Given the description of an element on the screen output the (x, y) to click on. 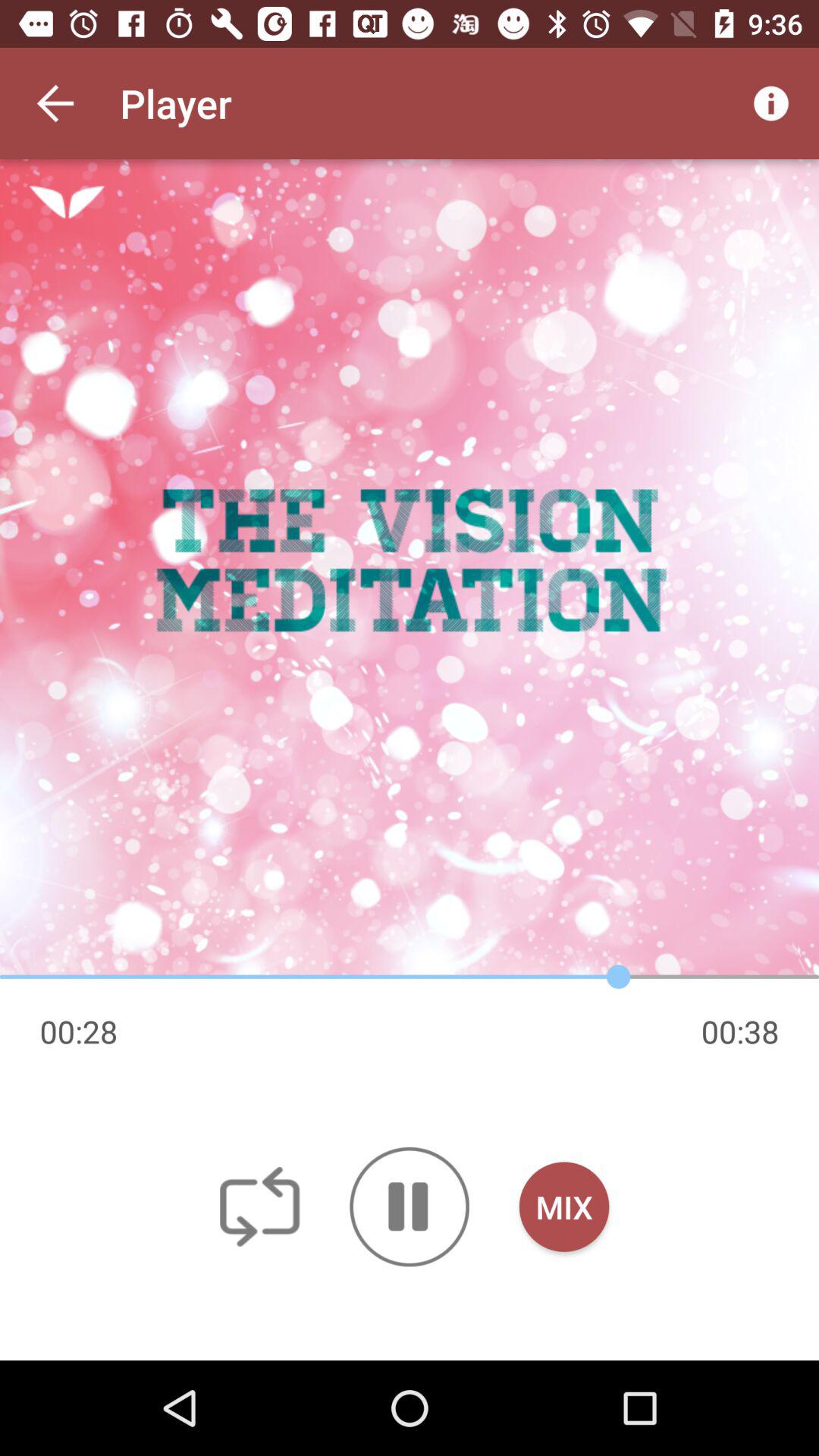
tap icon next to mix button (409, 1206)
